Given the description of an element on the screen output the (x, y) to click on. 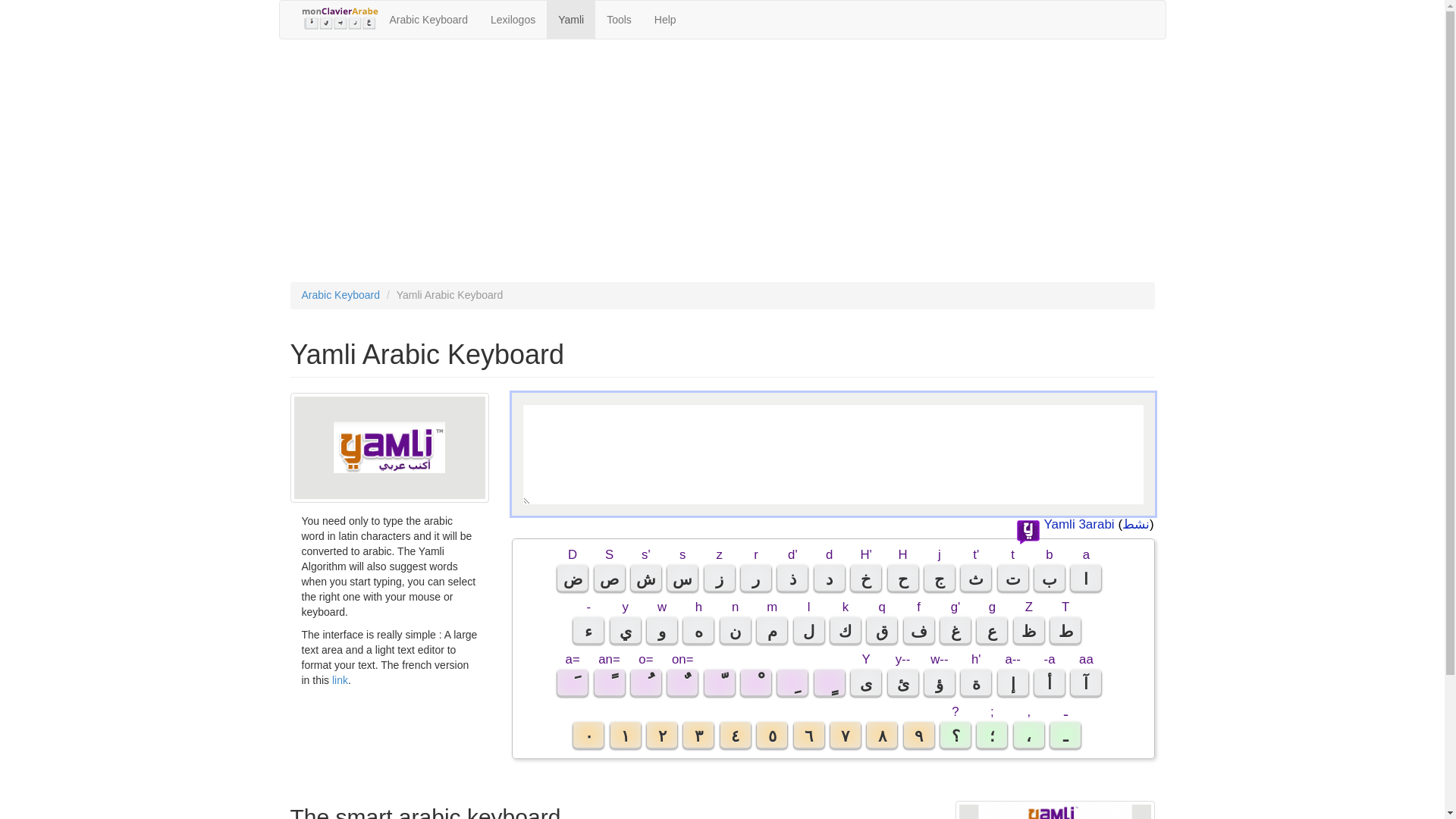
Yamli (571, 19)
Yamli Arabic Keyboard (389, 447)
link (339, 680)
Lexilogos (513, 19)
Tools (619, 19)
Arabic Keyboard (340, 295)
Help (665, 19)
Home (339, 18)
Arabic Keyboard (428, 19)
Yamli Arabic Keyboard (1054, 809)
